Given the description of an element on the screen output the (x, y) to click on. 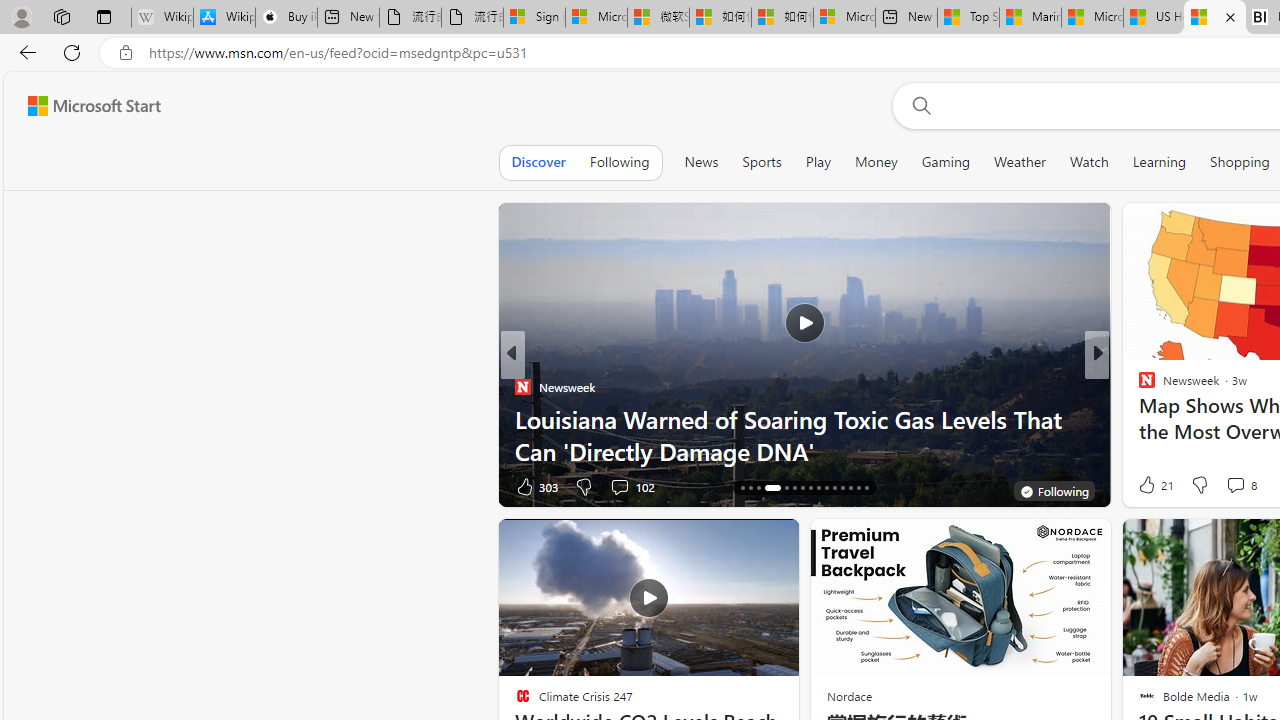
89 Like (1149, 486)
AutomationID: tab-22 (801, 487)
View comments 8 Comment (1234, 485)
Bolde Media (1138, 386)
21 Like (1154, 484)
The Weather Channel (1138, 386)
MSNBC (1138, 386)
